Given the description of an element on the screen output the (x, y) to click on. 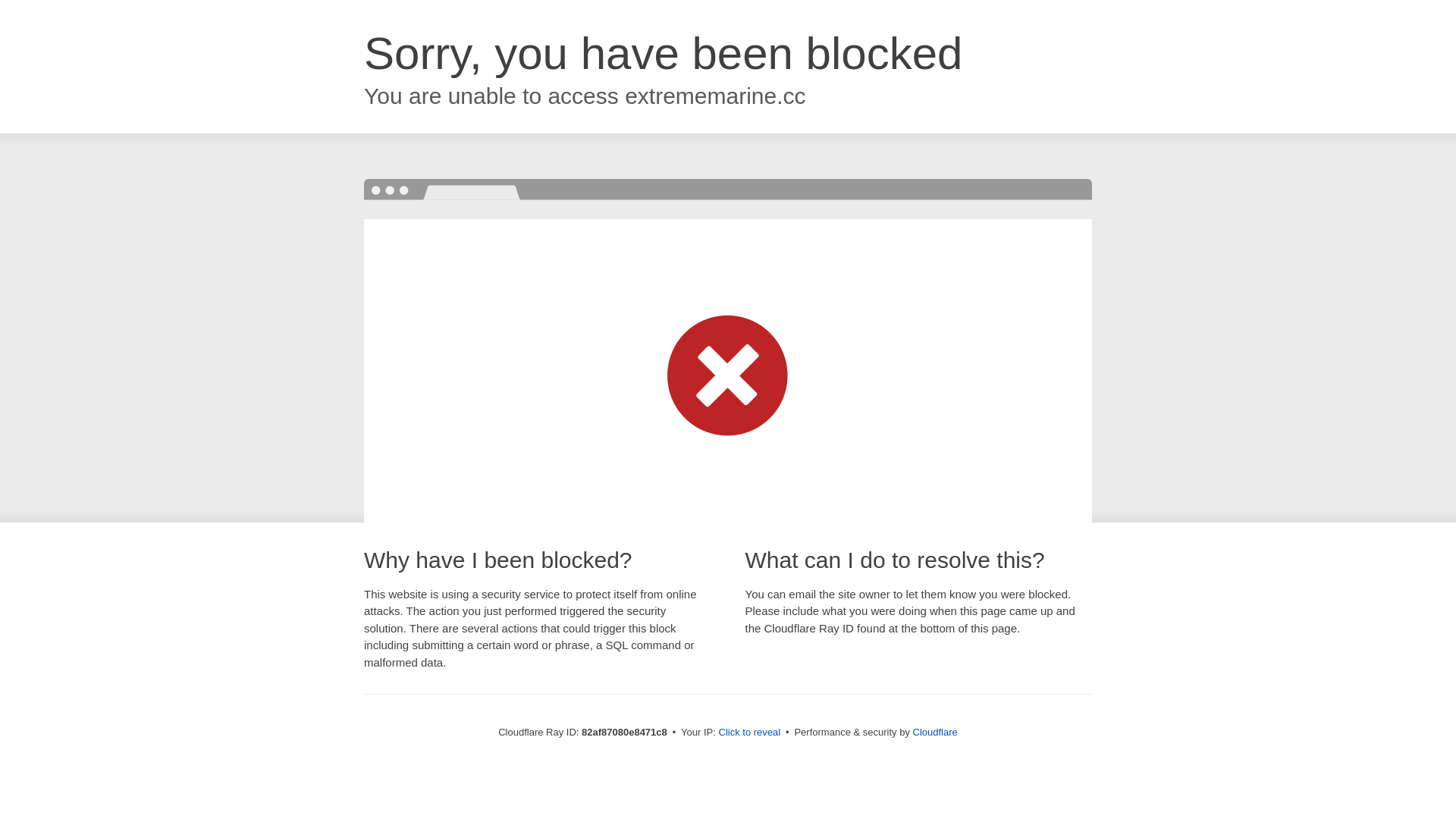
Cloudflare Element type: text (935, 731)
Click to reveal Element type: text (749, 732)
